Given the description of an element on the screen output the (x, y) to click on. 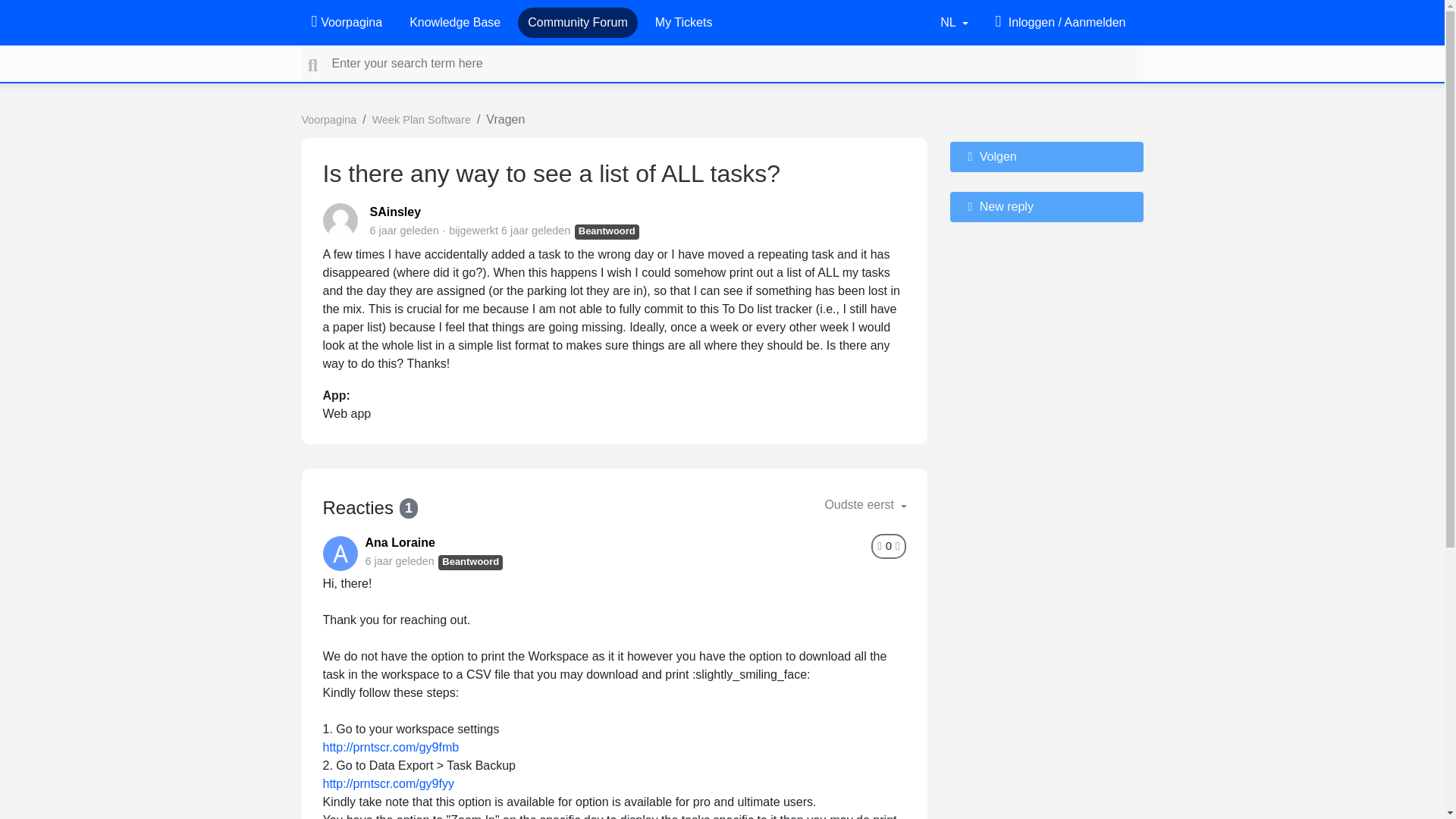
Oudste eerst (865, 504)
NL (954, 22)
New reply (1045, 206)
Voorpagina (346, 22)
7 februari 2018 13:00 (535, 230)
Community Forum (577, 22)
7 februari 2018 12:22 (404, 230)
Volgen (1045, 156)
My Tickets (684, 22)
Ana Loraine (400, 542)
Week Plan Software (421, 119)
7 februari 2018 13:00 (399, 561)
Knowledge Base (454, 22)
Voorpagina (328, 119)
SAinsley (395, 211)
